Given the description of an element on the screen output the (x, y) to click on. 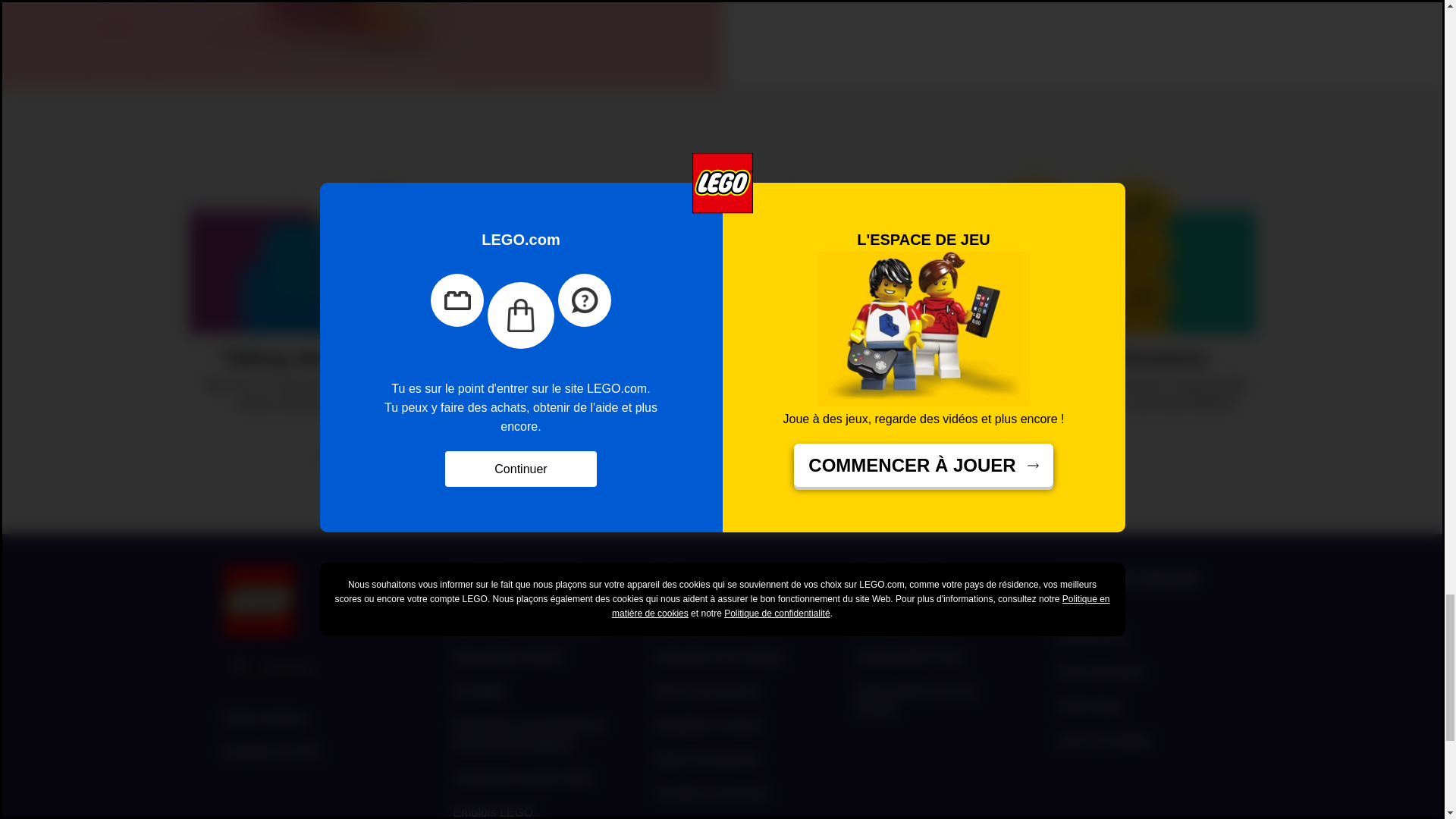
Find out more (722, 305)
Find out more (363, 305)
Find out more (1082, 305)
